Given the description of an element on the screen output the (x, y) to click on. 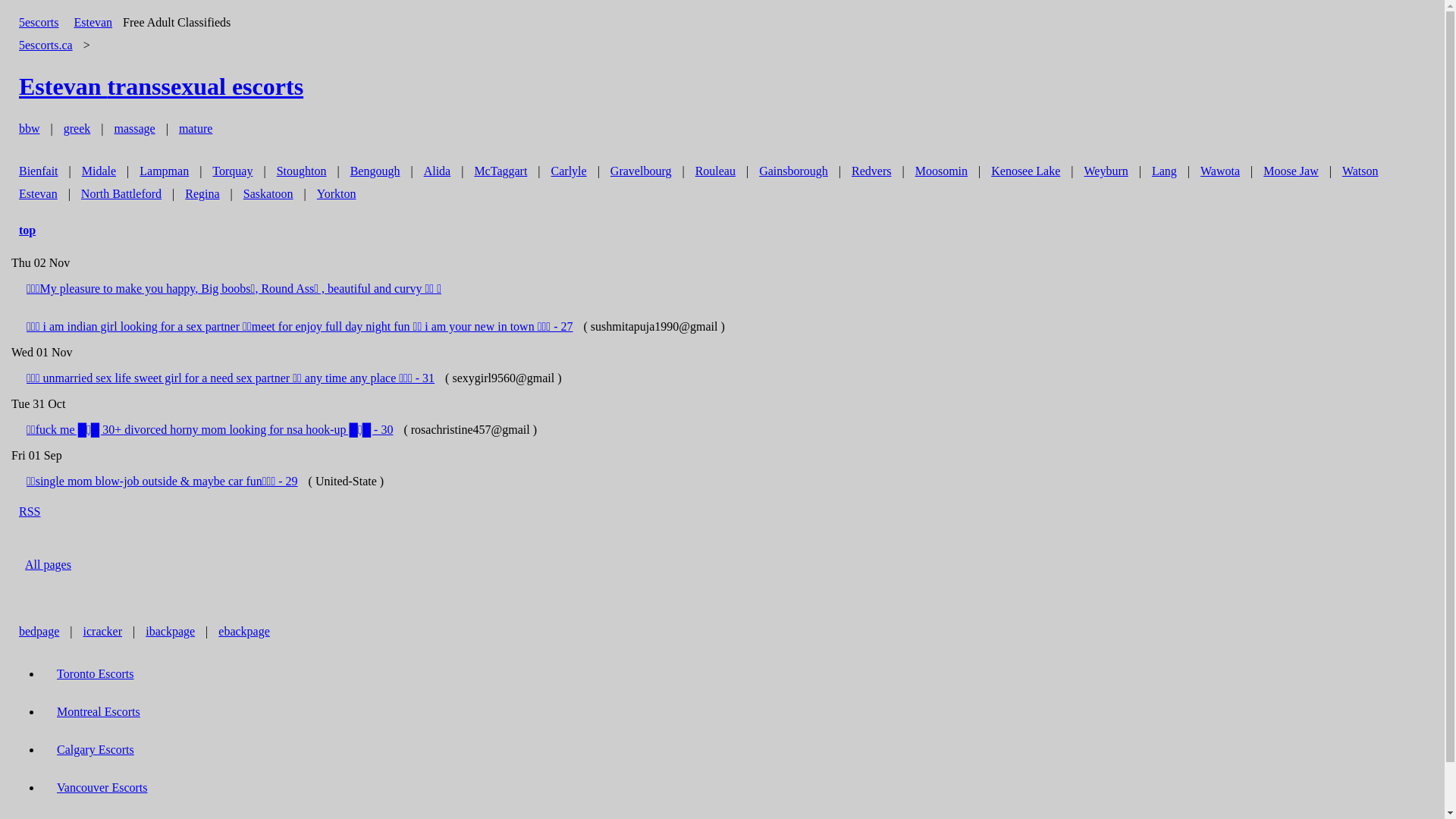
Midale Element type: text (98, 170)
5escorts.ca Element type: text (45, 45)
Estevan transsexual escorts Element type: text (160, 86)
Kenosee Lake Element type: text (1025, 170)
Watson Element type: text (1360, 170)
Torquay Element type: text (232, 170)
Lang Element type: text (1164, 170)
Calgary Escorts Element type: text (95, 749)
Lampman Element type: text (163, 170)
Stoughton Element type: text (301, 170)
Moose Jaw Element type: text (1290, 170)
Saskatoon Element type: text (268, 193)
Regina Element type: text (201, 193)
top Element type: text (27, 230)
Weyburn Element type: text (1105, 170)
5escorts Element type: text (38, 22)
Moosomin Element type: text (941, 170)
All pages Element type: text (47, 564)
Bengough Element type: text (374, 170)
McTaggart Element type: text (500, 170)
ibackpage Element type: text (170, 631)
greek Element type: text (77, 128)
Gravelbourg Element type: text (640, 170)
Yorkton Element type: text (336, 193)
icracker Element type: text (102, 631)
North Battleford Element type: text (121, 193)
Estevan Element type: text (92, 22)
Alida Element type: text (437, 170)
RSS Element type: text (29, 511)
Gainsborough Element type: text (793, 170)
mature Element type: text (195, 128)
Toronto Escorts Element type: text (95, 673)
massage Element type: text (134, 128)
ebackpage Element type: text (243, 631)
Estevan Element type: text (38, 193)
Vancouver Escorts Element type: text (102, 787)
Rouleau Element type: text (715, 170)
Redvers Element type: text (871, 170)
Wawota Element type: text (1219, 170)
Carlyle Element type: text (568, 170)
Bienfait Element type: text (38, 170)
bedpage Element type: text (38, 631)
Montreal Escorts Element type: text (98, 711)
bbw Element type: text (29, 128)
